Given the description of an element on the screen output the (x, y) to click on. 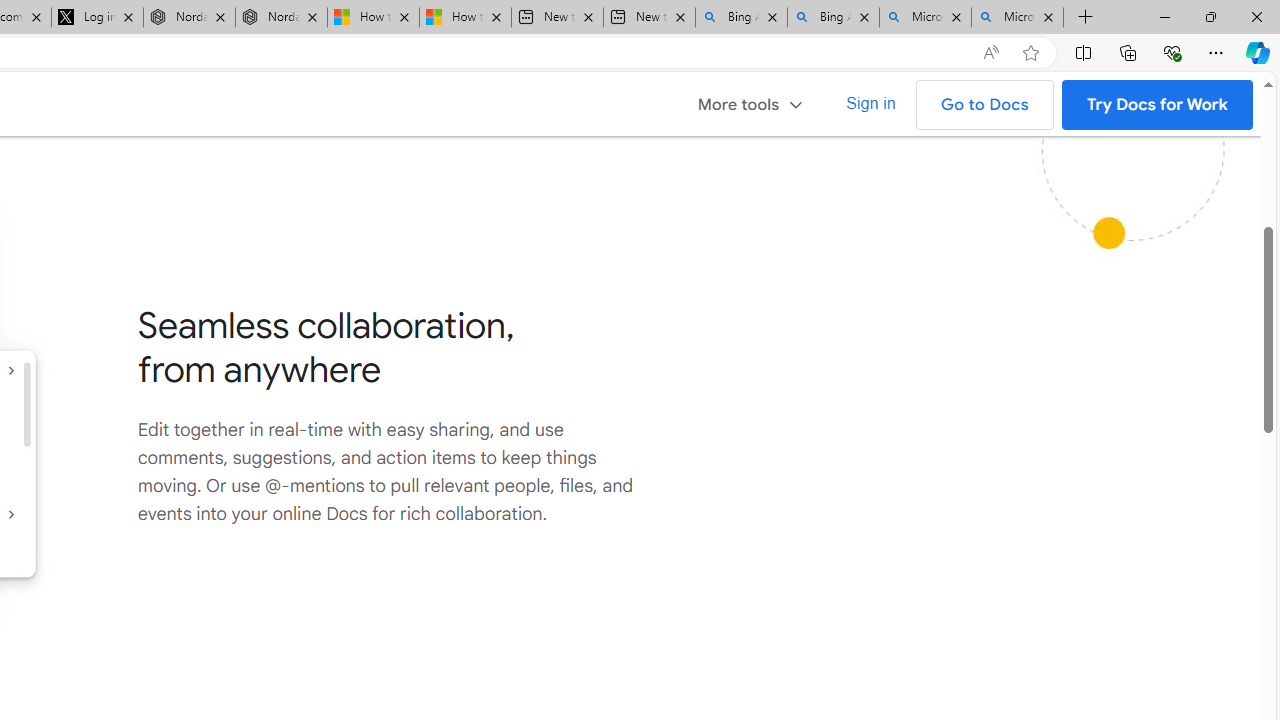
Microsoft Bing Timeline - Search (1017, 17)
Bing AI - Search (833, 17)
Log in to X / X (97, 17)
